Given the description of an element on the screen output the (x, y) to click on. 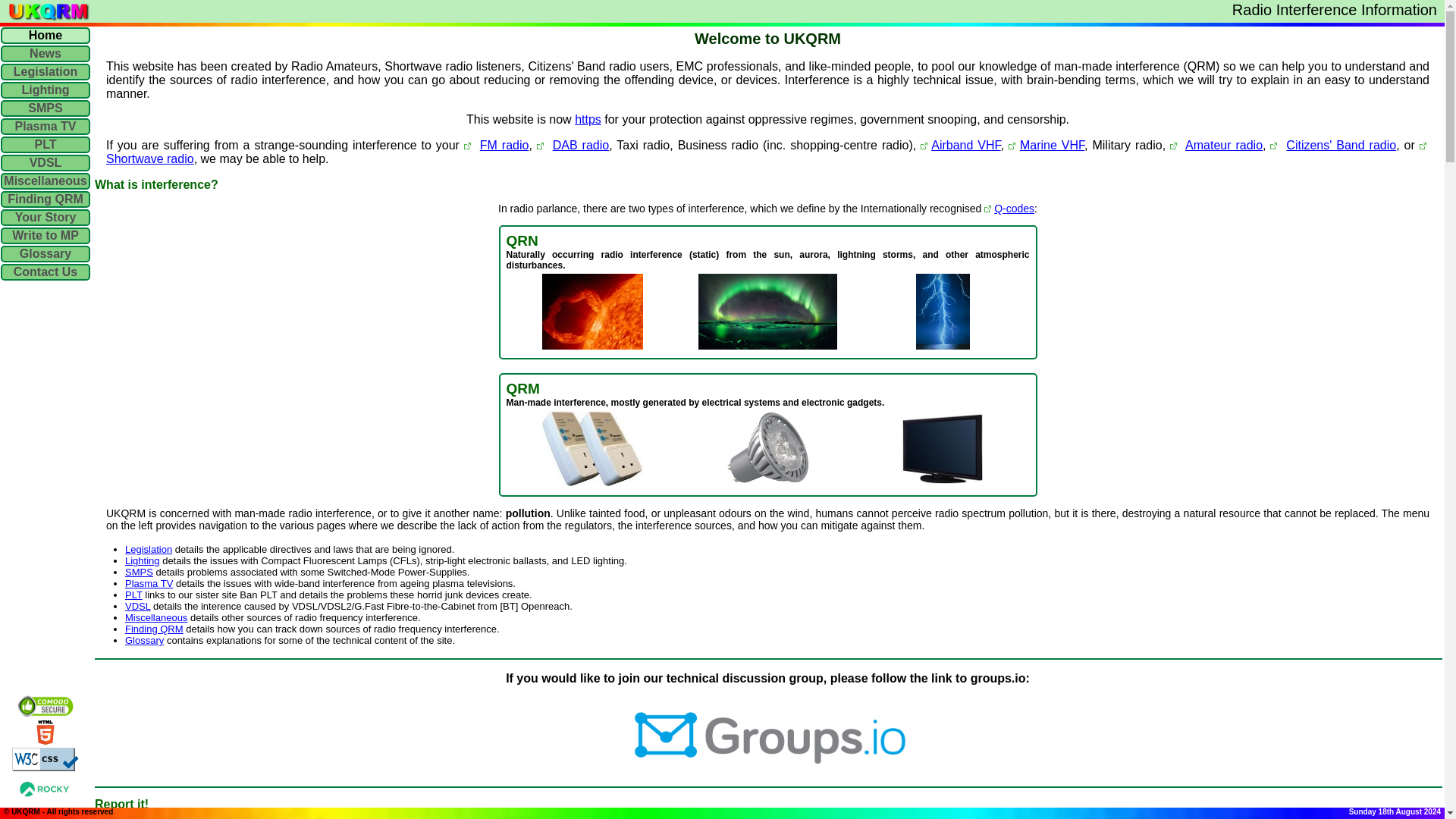
Click here for the legislation page. (148, 549)
Citizens' Band radio (1340, 144)
Click here for the finding QRM page. (154, 628)
Click here for the PLT page. (133, 594)
Shortwave radio (149, 158)
VDSL (137, 605)
Plasma TV (149, 583)
Click here for the Wikipedia page on Shortwave Radio. (149, 158)
Click here for the Wikipedia page. (1013, 208)
Click here for the Wikipedia page. (965, 144)
